Given the description of an element on the screen output the (x, y) to click on. 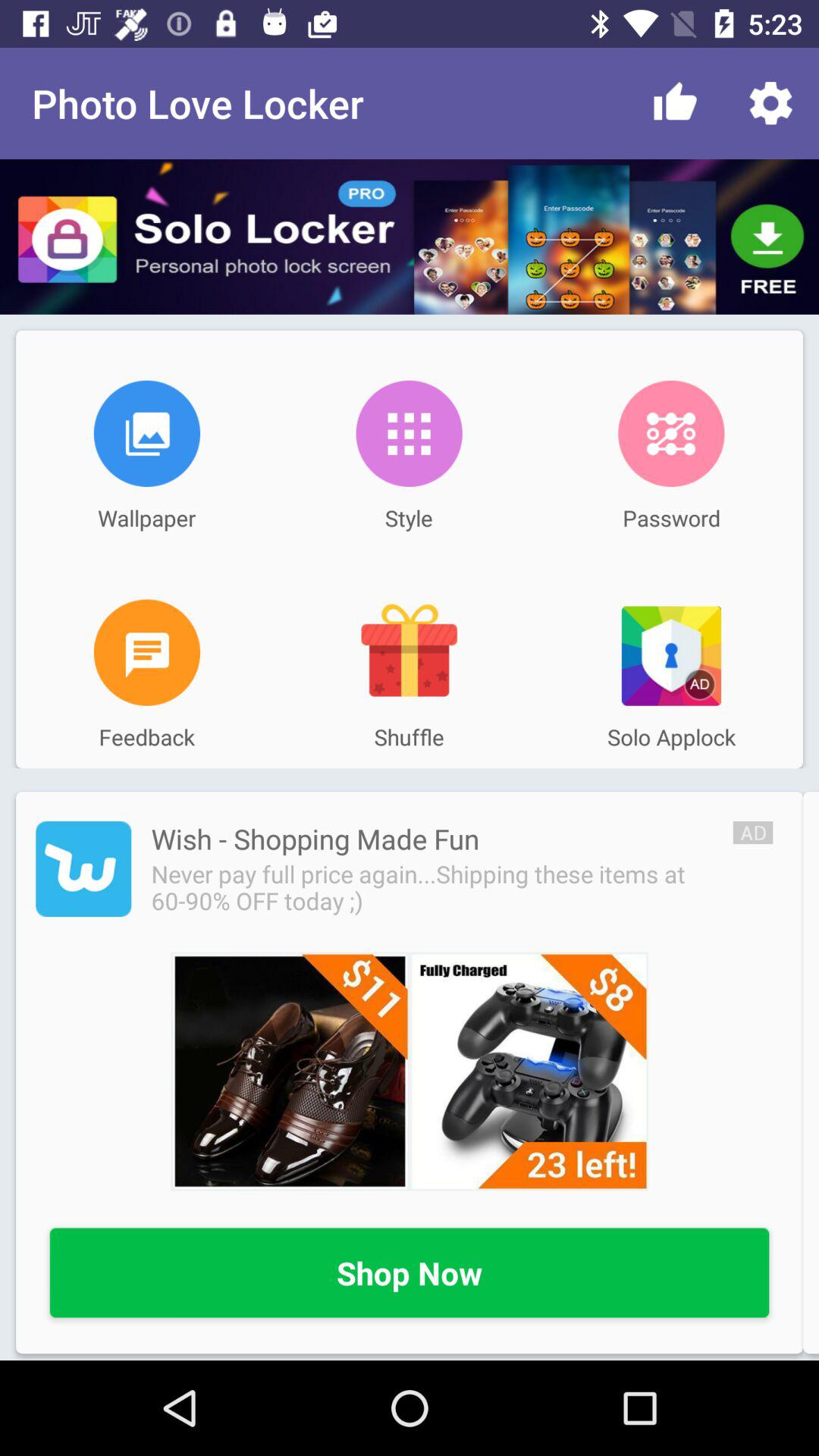
open wish website (409, 1071)
